Given the description of an element on the screen output the (x, y) to click on. 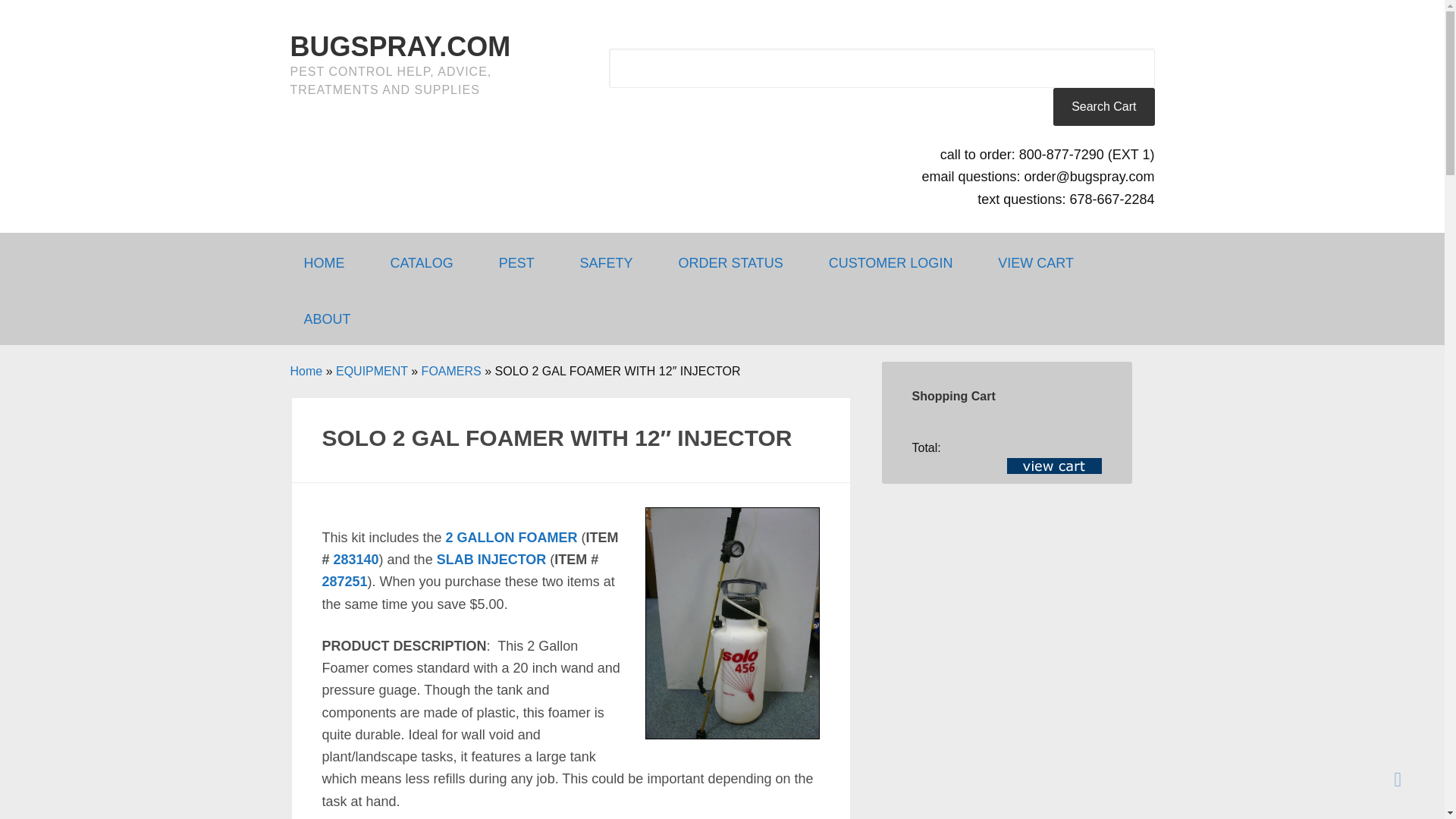
HOME (330, 260)
CATALOG (428, 260)
Search Cart (1103, 106)
BUGSPRAY.COM (400, 46)
Search Cart (1103, 106)
